Given the description of an element on the screen output the (x, y) to click on. 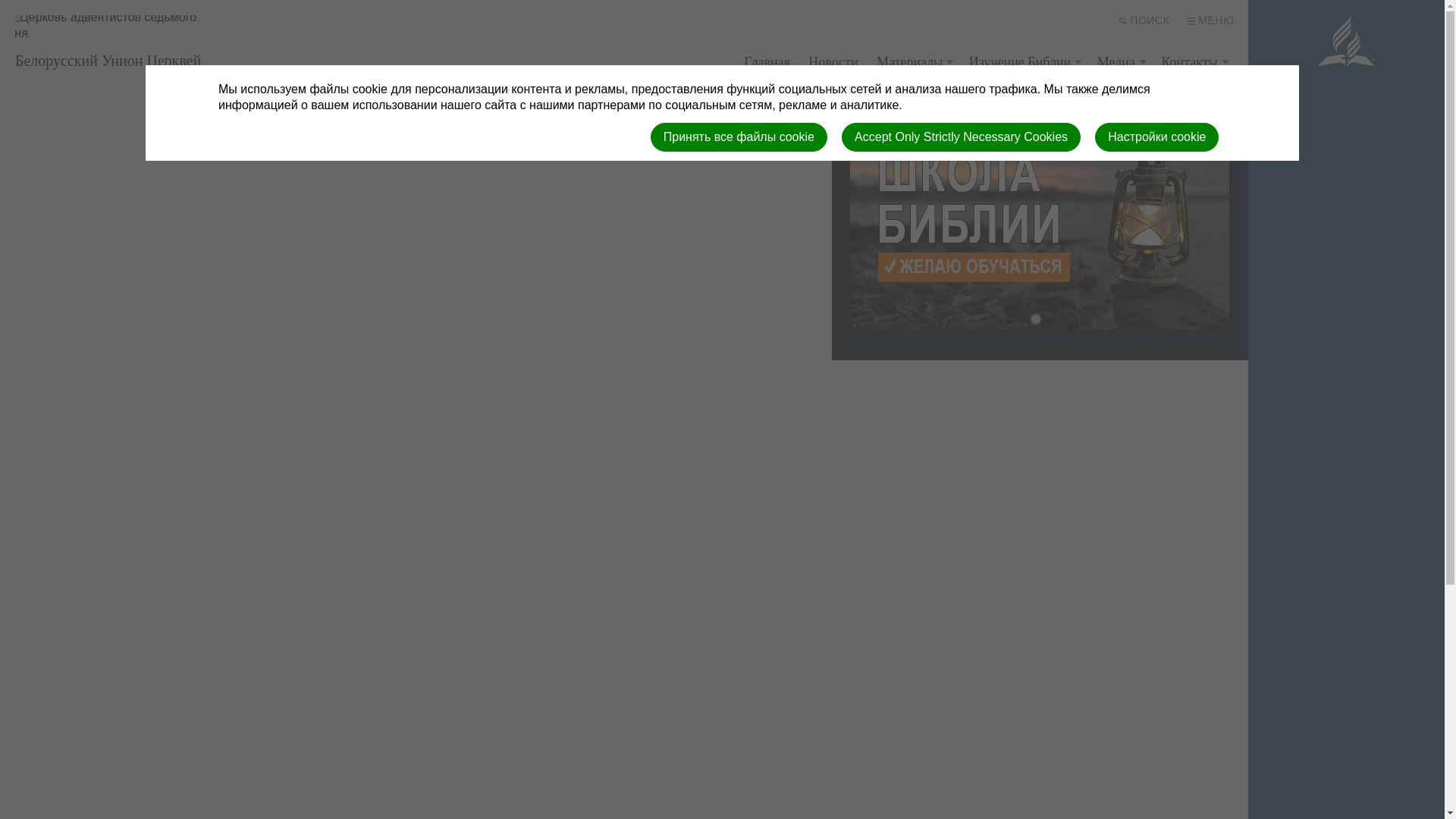
Accept Only Strictly Necessary Cookies Element type: text (960, 136)
